Given the description of an element on the screen output the (x, y) to click on. 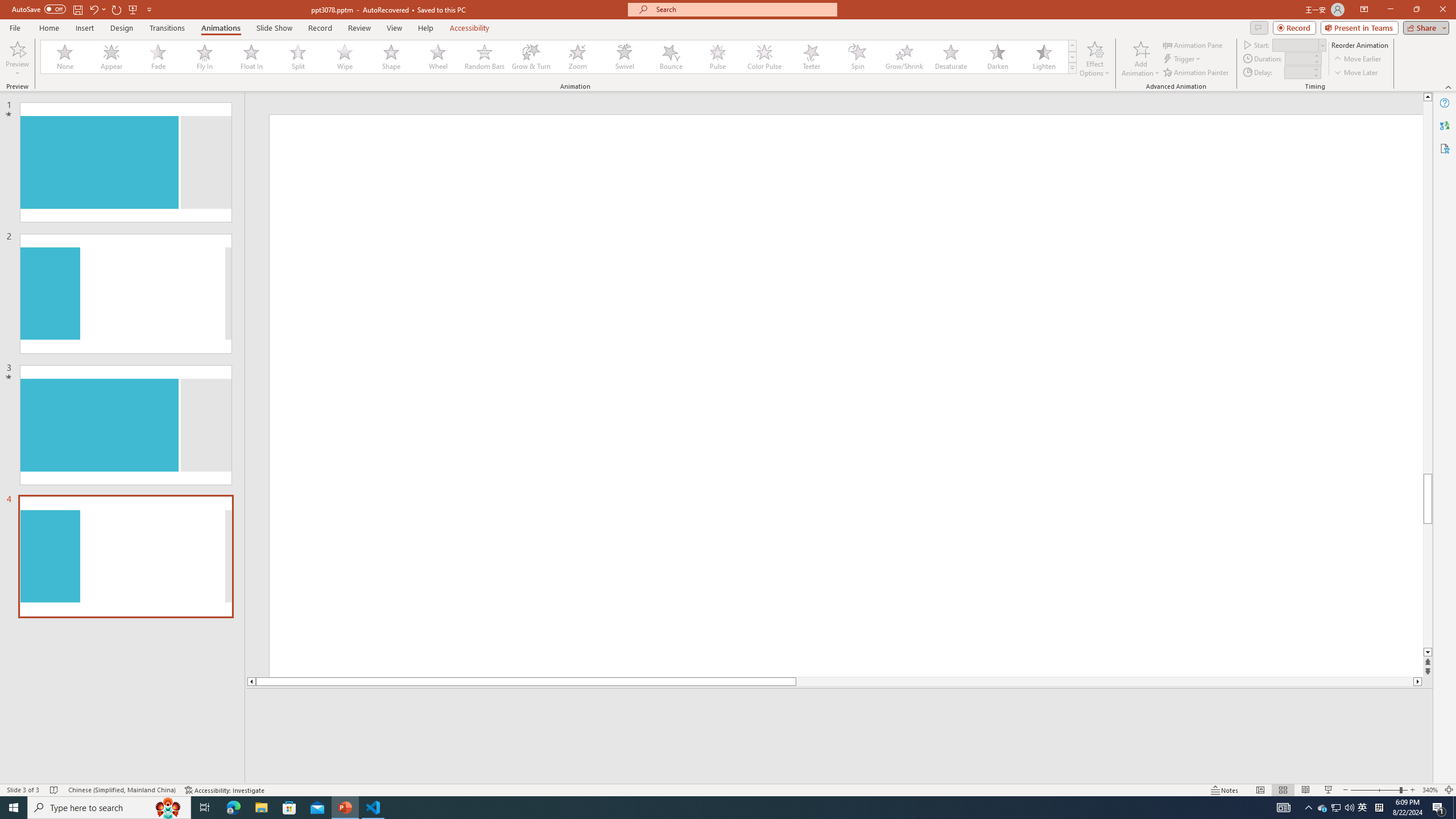
Grow & Turn (531, 56)
Desaturate (950, 56)
Lighten (1043, 56)
